Given the description of an element on the screen output the (x, y) to click on. 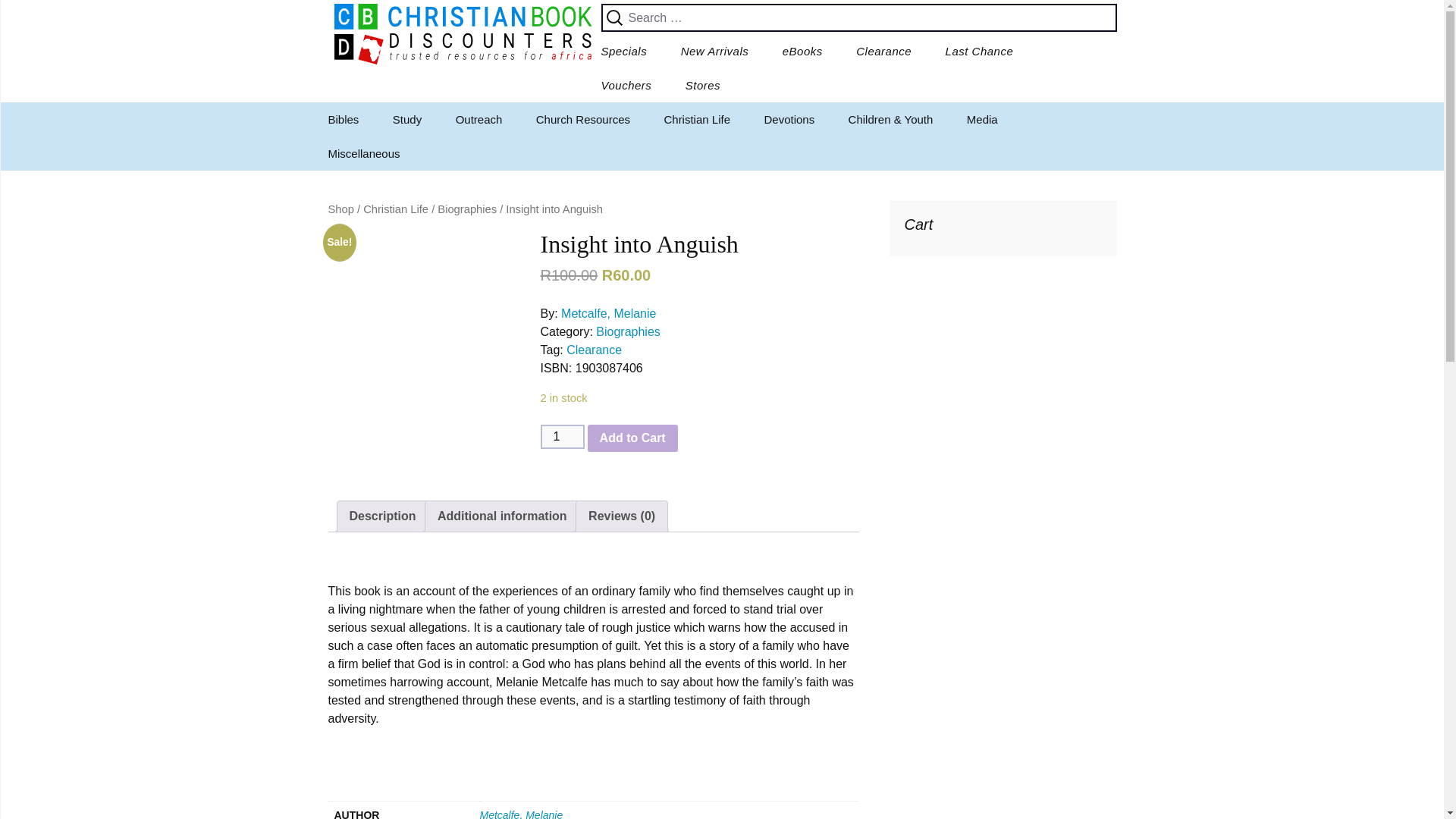
New Arrivals (714, 50)
1 (561, 436)
Specials (623, 50)
Study (406, 119)
Bibles (388, 153)
Search (37, 15)
Clearance (883, 50)
Vouchers (625, 84)
Bibles (343, 119)
